Given the description of an element on the screen output the (x, y) to click on. 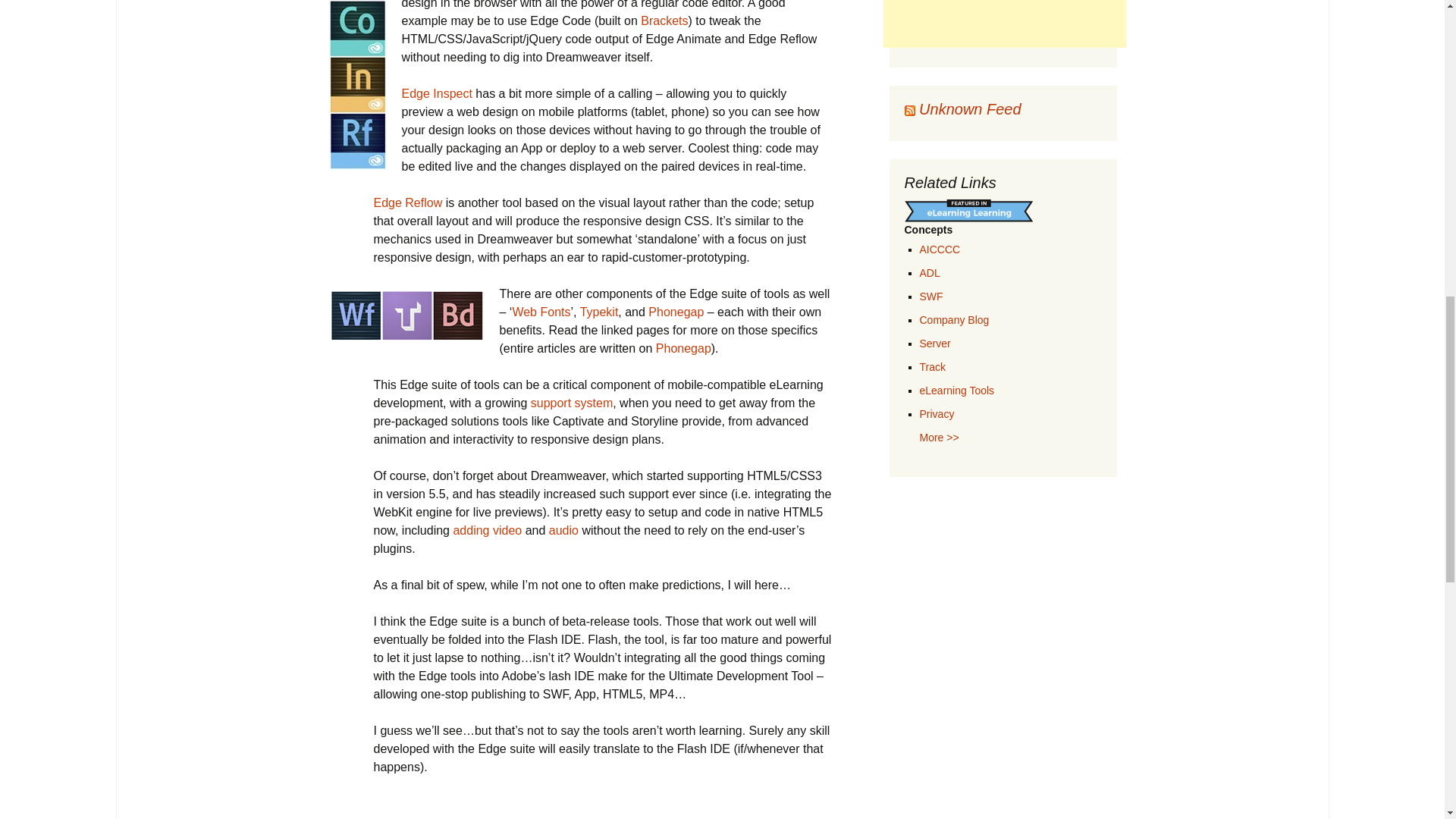
Advertisement (1003, 23)
Web Fonts (541, 311)
audio (563, 530)
eLearning Learning (968, 210)
adding video (486, 530)
support system (571, 402)
Edge Inspect (436, 92)
Phonegap (675, 311)
Edge Reflow (407, 202)
Brackets (663, 20)
Typekit (598, 311)
Phonegap (683, 348)
